Given the description of an element on the screen output the (x, y) to click on. 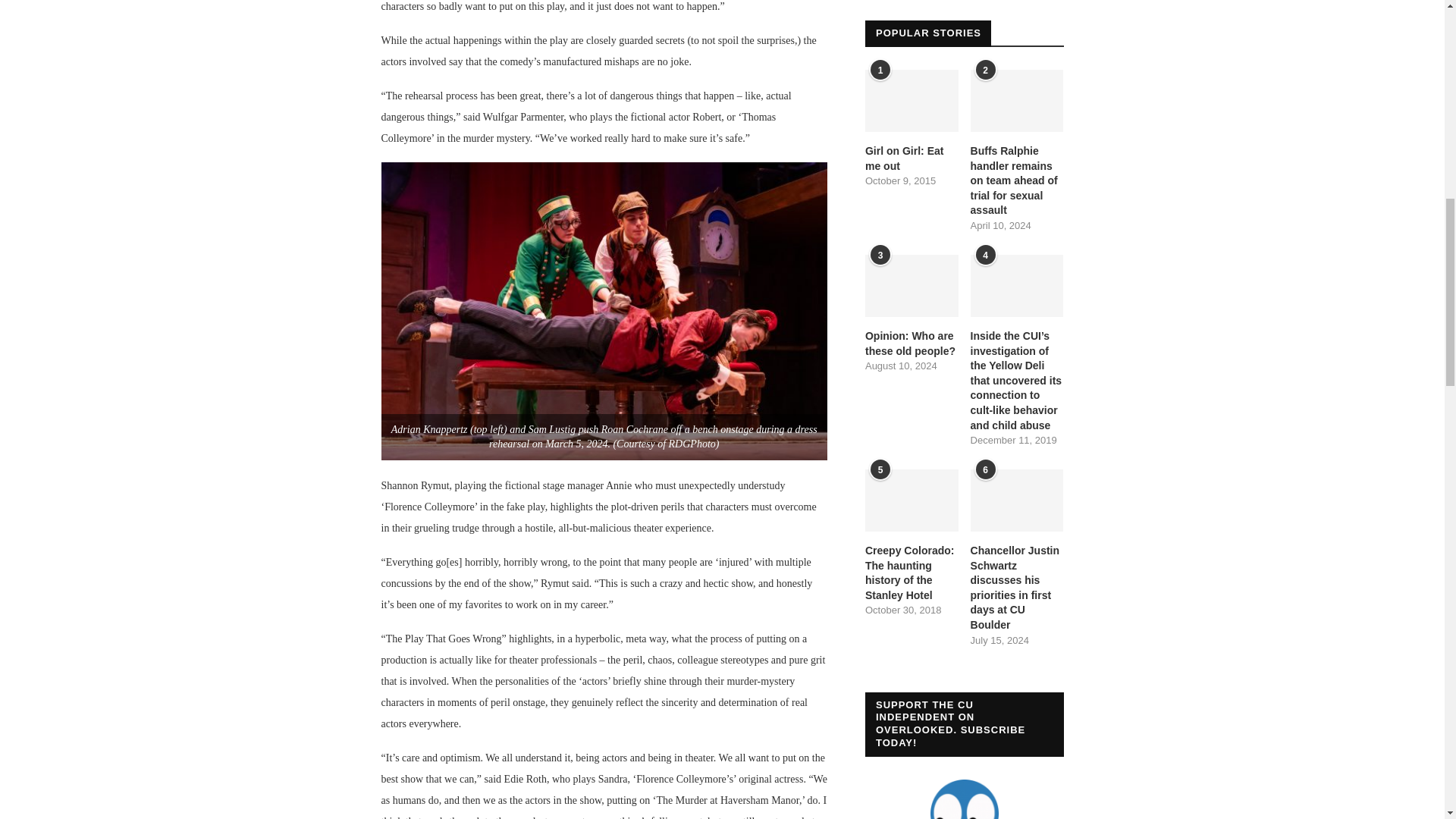
Girl on Girl: Eat me out (911, 158)
Girl on Girl: Eat me out (911, 100)
Opinion: Who are these old people? (911, 343)
Opinion: Who are these old people? (911, 285)
